Given the description of an element on the screen output the (x, y) to click on. 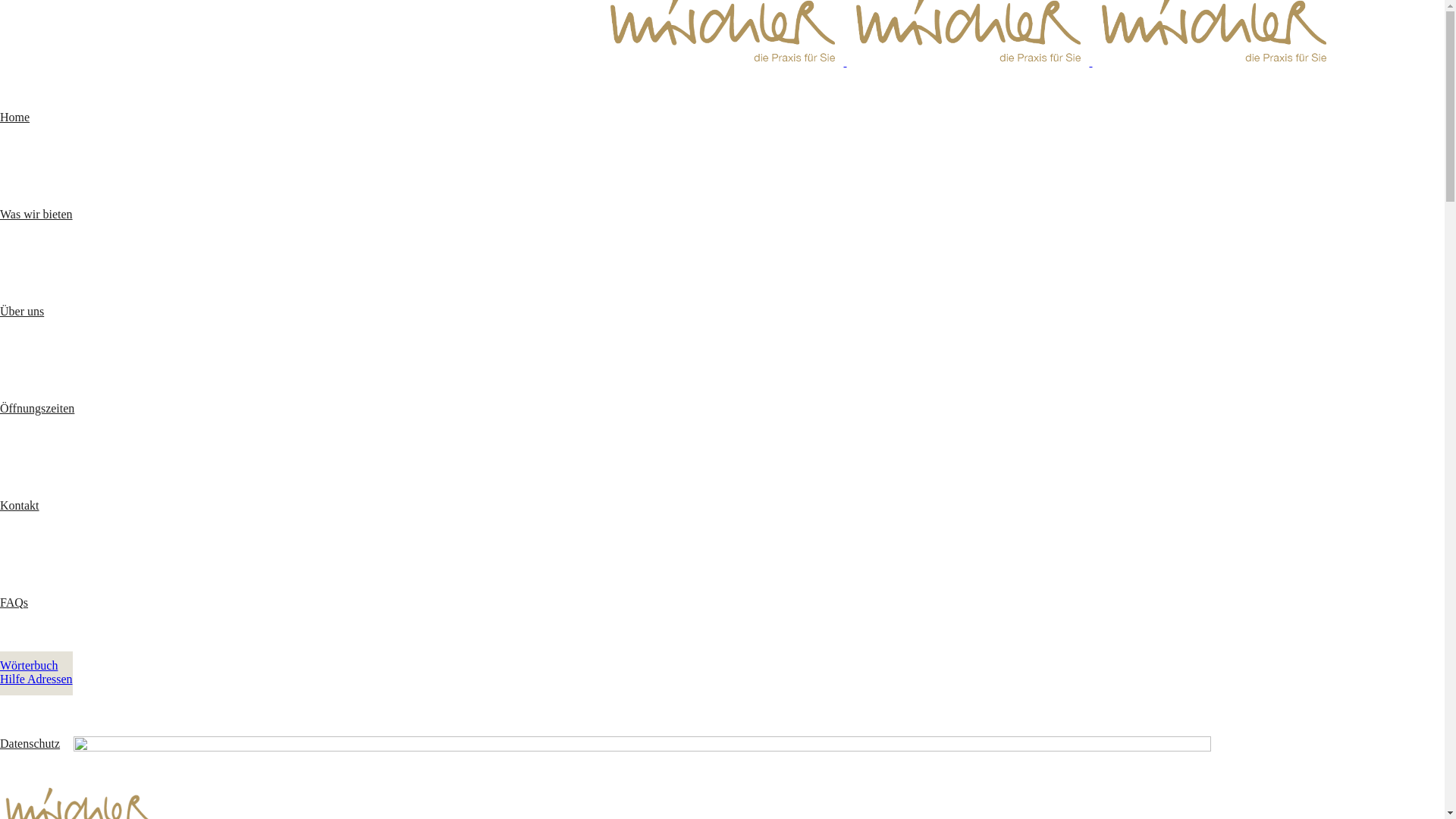
Kontakt Element type: text (722, 505)
Home Element type: text (722, 117)
Datenschutz Element type: text (722, 743)
Hilfe Adressen Element type: text (36, 678)
FAQs Element type: text (722, 602)
Was wir bieten Element type: text (722, 214)
